Given the description of an element on the screen output the (x, y) to click on. 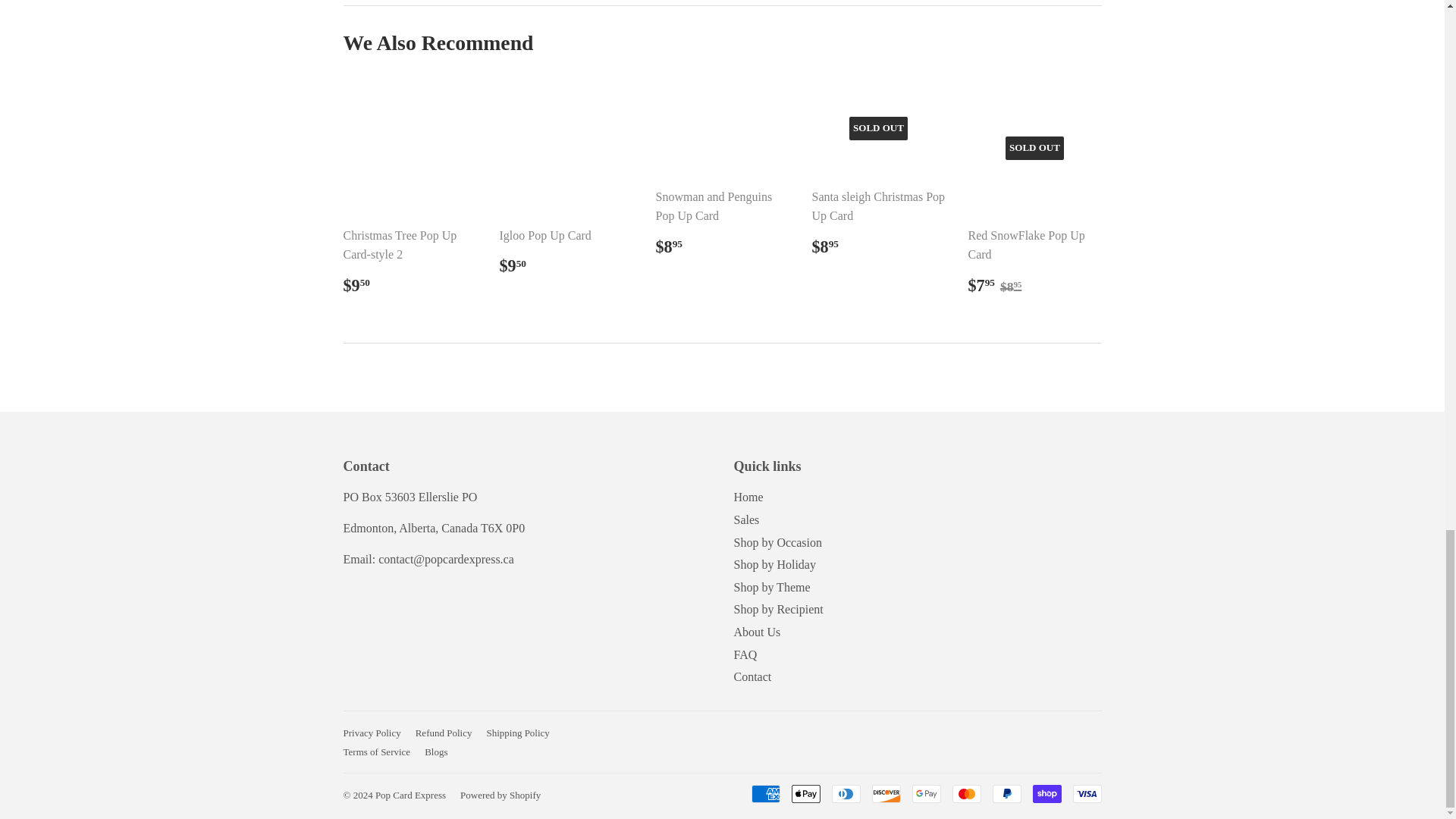
Apple Pay (806, 793)
Mastercard (966, 793)
American Express (764, 793)
Shop Pay (1046, 793)
Discover (886, 793)
Visa (1085, 793)
Diners Club (845, 793)
PayPal (1005, 793)
Google Pay (925, 793)
